Given the description of an element on the screen output the (x, y) to click on. 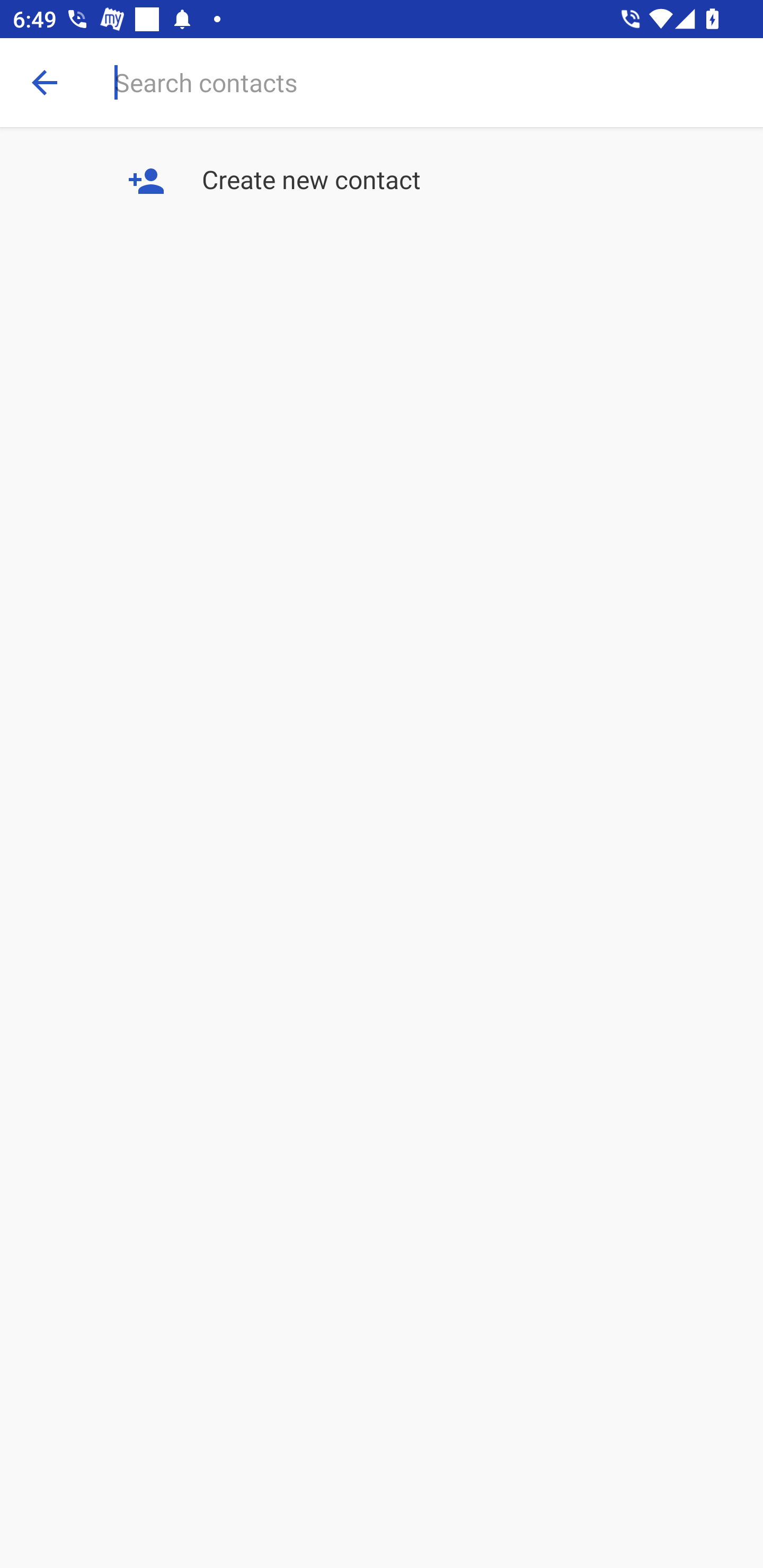
stop searching (44, 82)
Search contacts (438, 82)
Create new contact (381, 182)
